Given the description of an element on the screen output the (x, y) to click on. 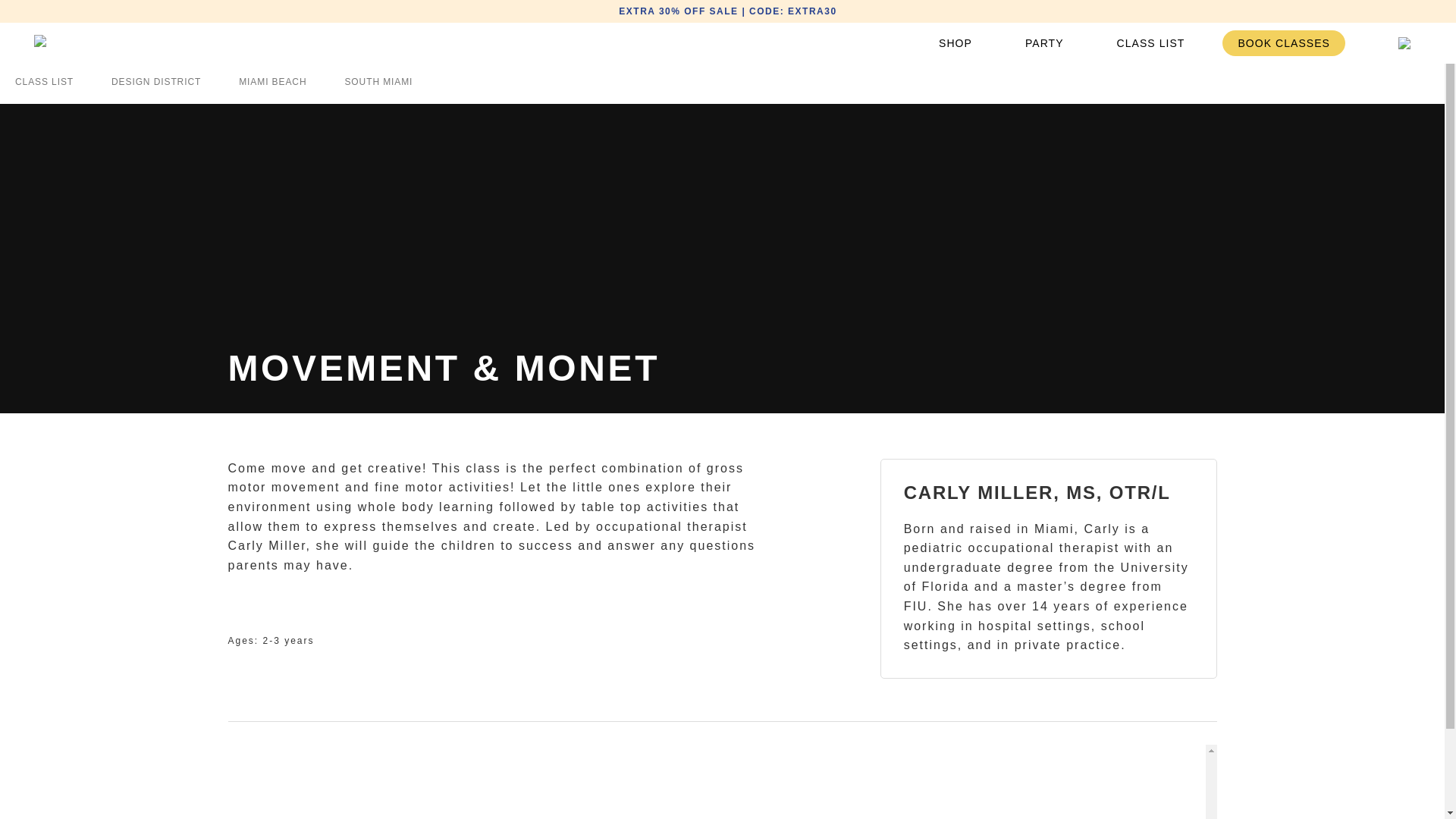
PARTY (1044, 43)
CLASS LIST (1150, 43)
SHOP (955, 43)
